Given the description of an element on the screen output the (x, y) to click on. 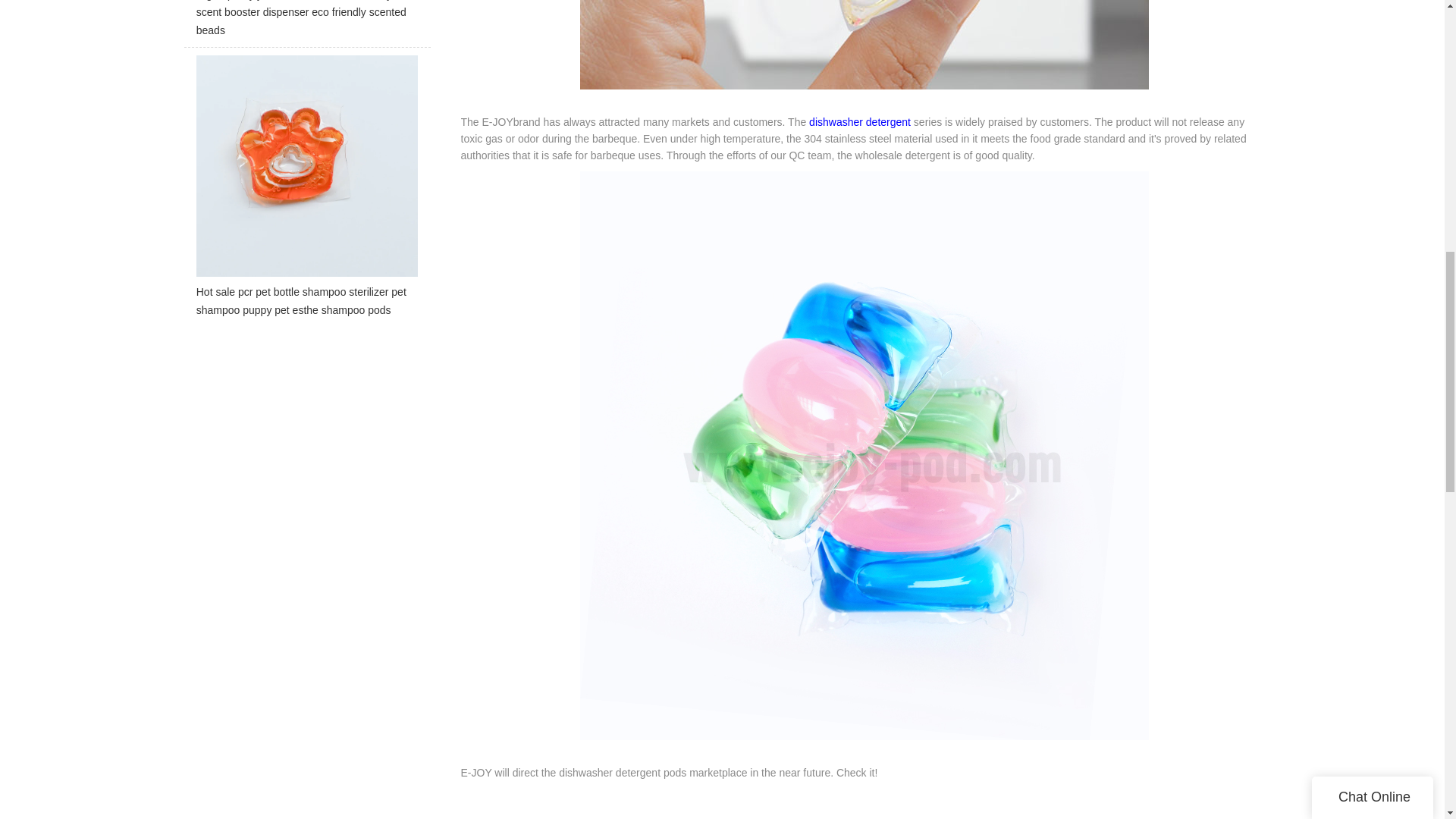
dishwasher detergent (860, 121)
